Given the description of an element on the screen output the (x, y) to click on. 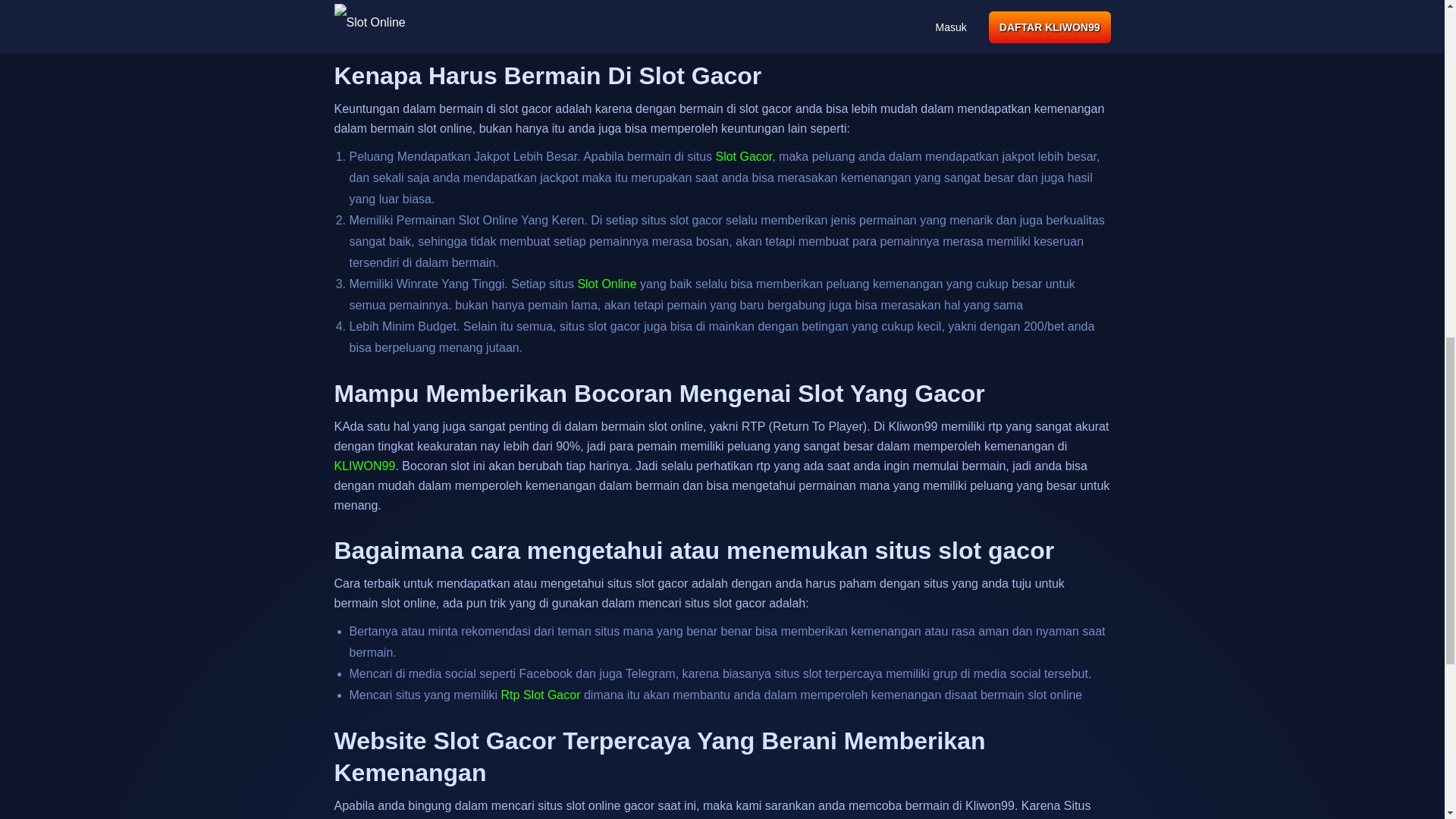
KLIWON99 (606, 283)
Slot Online (606, 283)
KLIWON99 (363, 465)
Slot Gacor (742, 155)
KLIWON99 (742, 155)
KLIWON99 (540, 694)
Rtp Slot Gacor (540, 694)
KLIWON99 (363, 465)
